Given the description of an element on the screen output the (x, y) to click on. 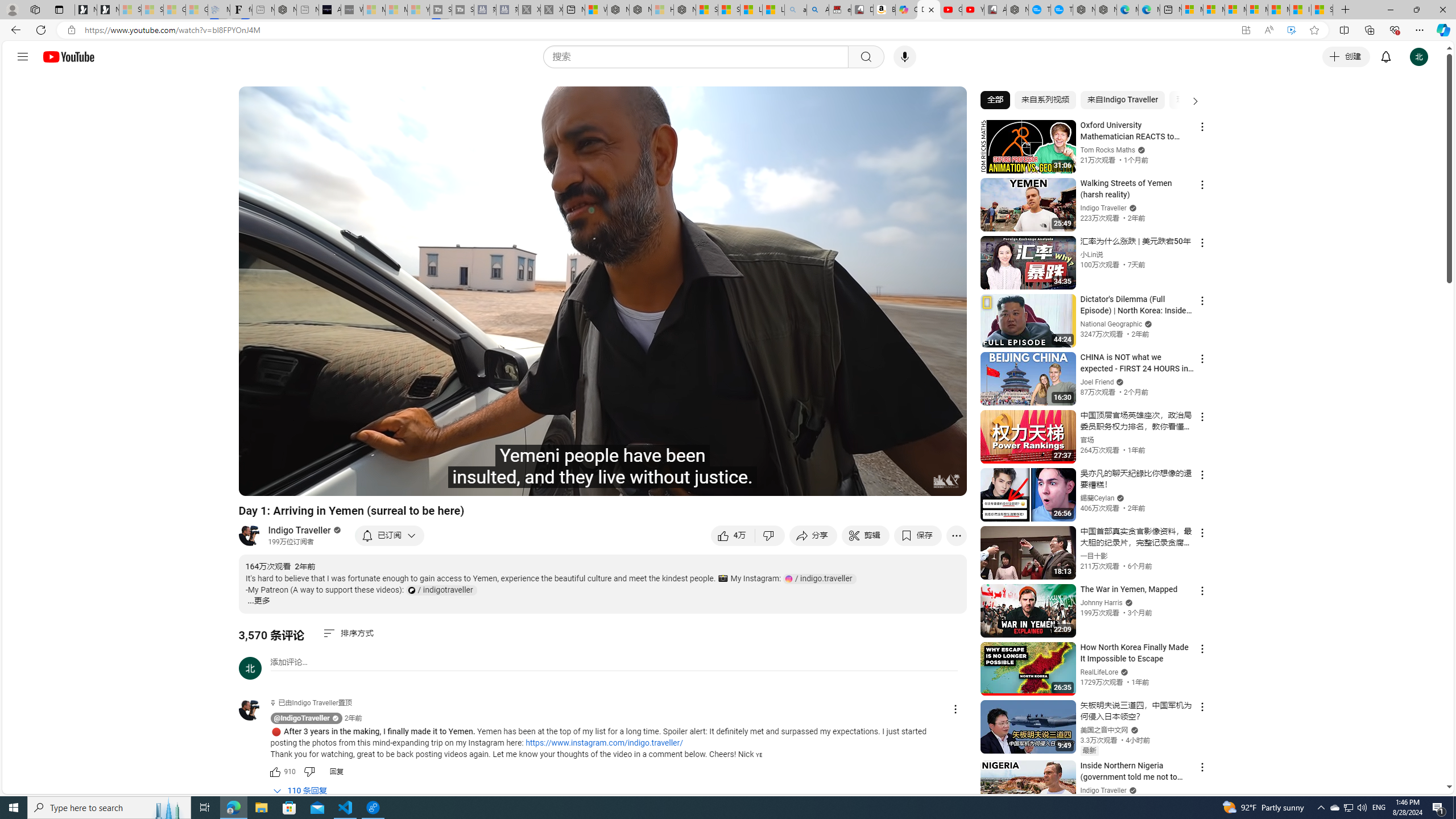
AutomationID: simplebox-placeholder (288, 662)
Copilot (907, 9)
Nordace - Nordace has arrived Hong Kong (1105, 9)
Microsoft Start - Sleeping (396, 9)
Class: ytp-subtitles-button-icon (837, 482)
Patreon Channel Link: indigotraveller (441, 590)
